Given the description of an element on the screen output the (x, y) to click on. 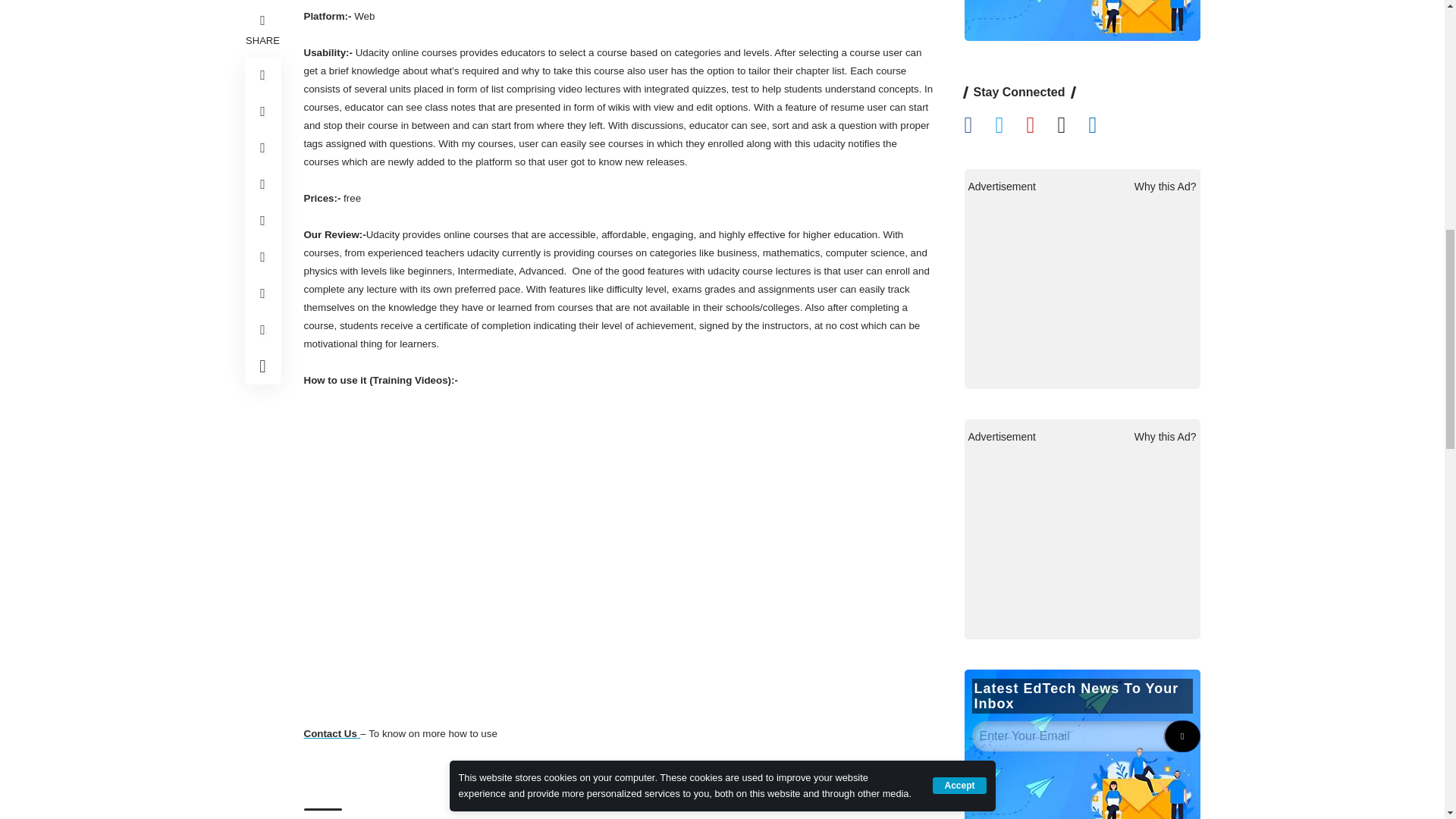
Follow EdTechReview on Facebook (979, 748)
